Given the description of an element on the screen output the (x, y) to click on. 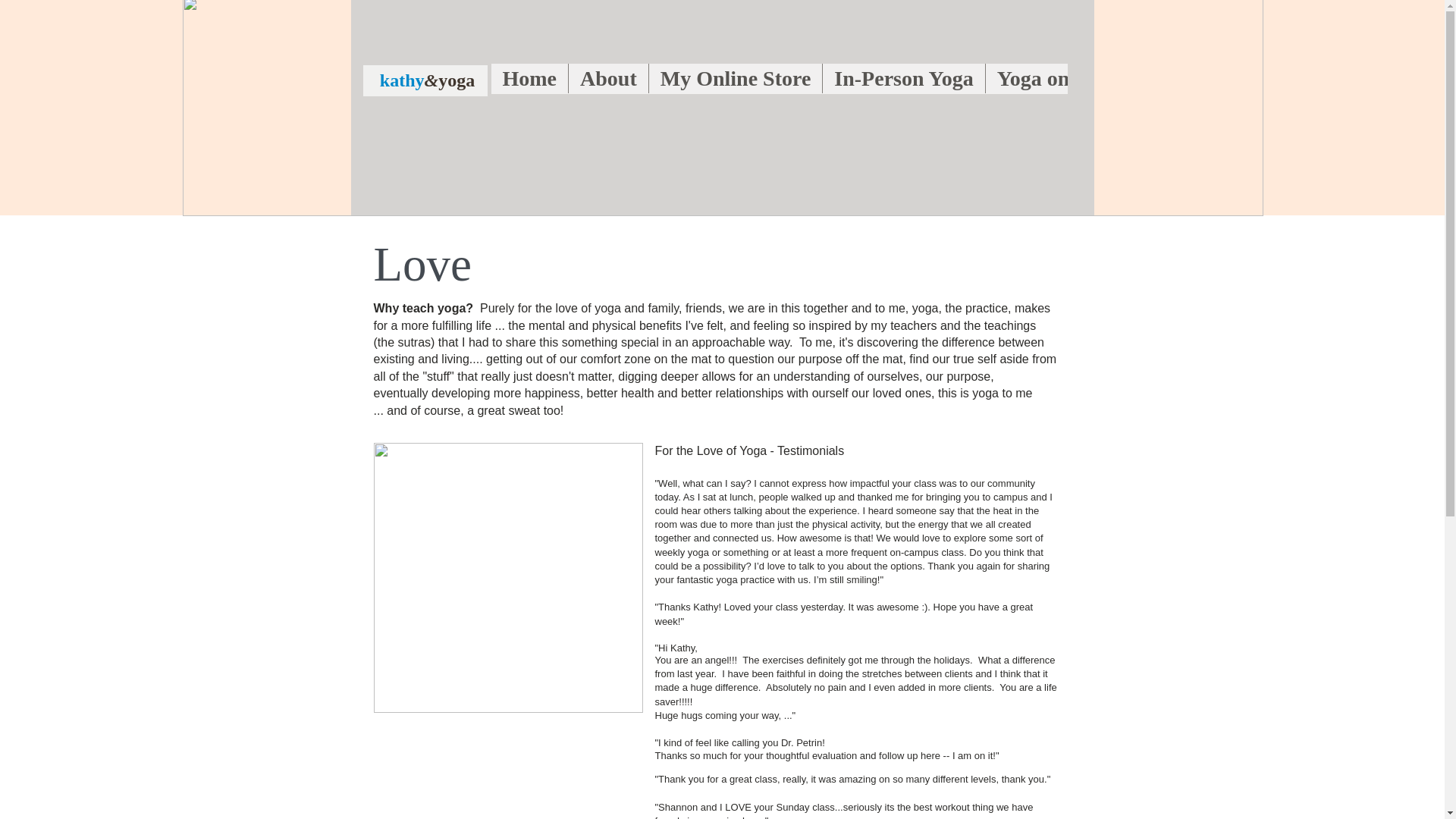
Home (530, 78)
About (607, 78)
Yoga on Demand (1074, 78)
My Online Store (734, 78)
In-Person Yoga (903, 78)
